Given the description of an element on the screen output the (x, y) to click on. 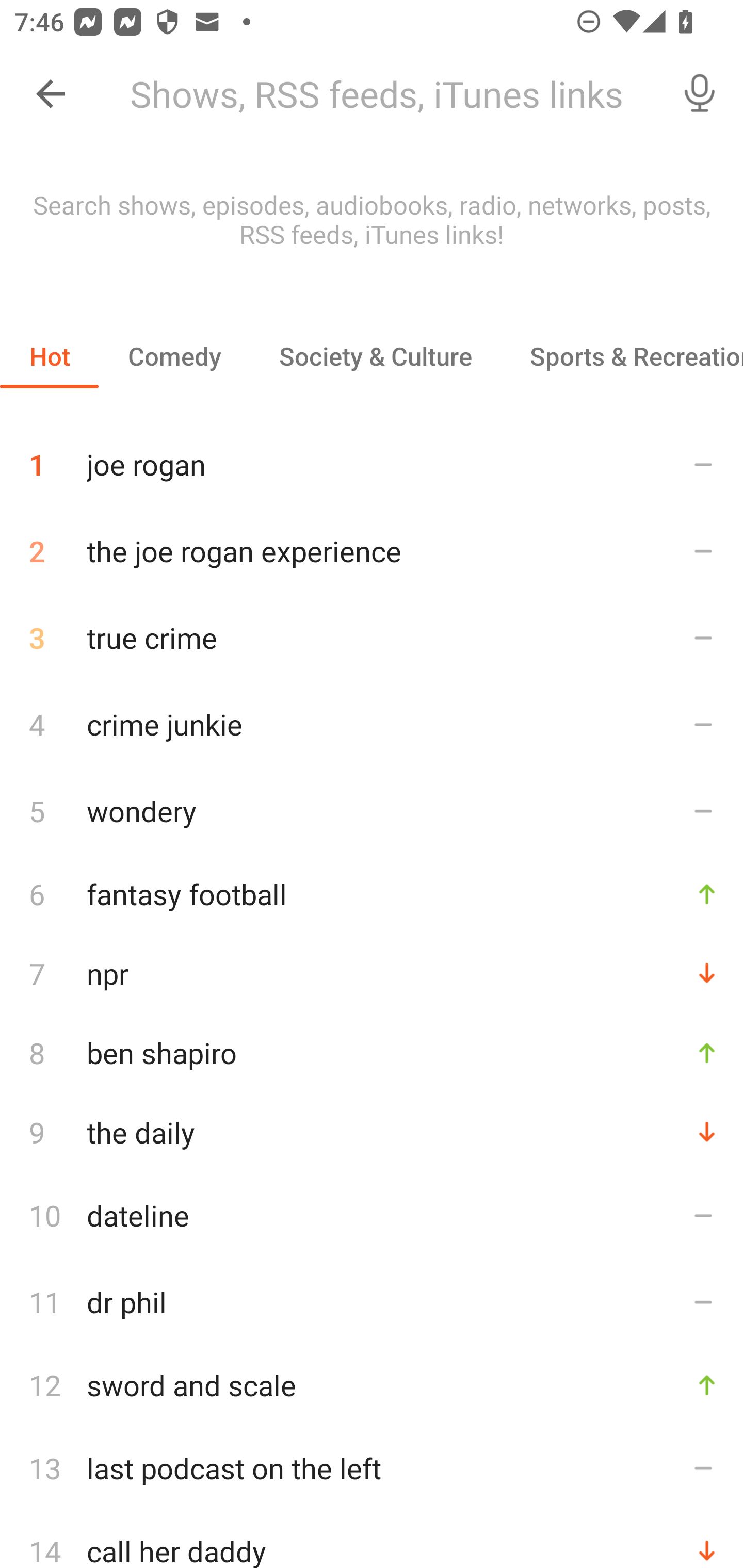
Collapse (50, 93)
Voice Search (699, 93)
Shows, RSS feeds, iTunes links (385, 94)
Hot (49, 355)
Comedy (173, 355)
Society & Culture (374, 355)
Sports & Recreation (621, 355)
1 joe rogan (371, 457)
2 the joe rogan experience (371, 551)
3 true crime (371, 637)
4 crime junkie (371, 723)
5 wondery (371, 810)
6 fantasy football (371, 893)
7 npr (371, 972)
8 ben shapiro (371, 1052)
9 the daily (371, 1131)
10 dateline (371, 1215)
11 dr phil (371, 1302)
12 sword and scale (371, 1385)
13 last podcast on the left (371, 1468)
14 call her daddy (371, 1539)
